Given the description of an element on the screen output the (x, y) to click on. 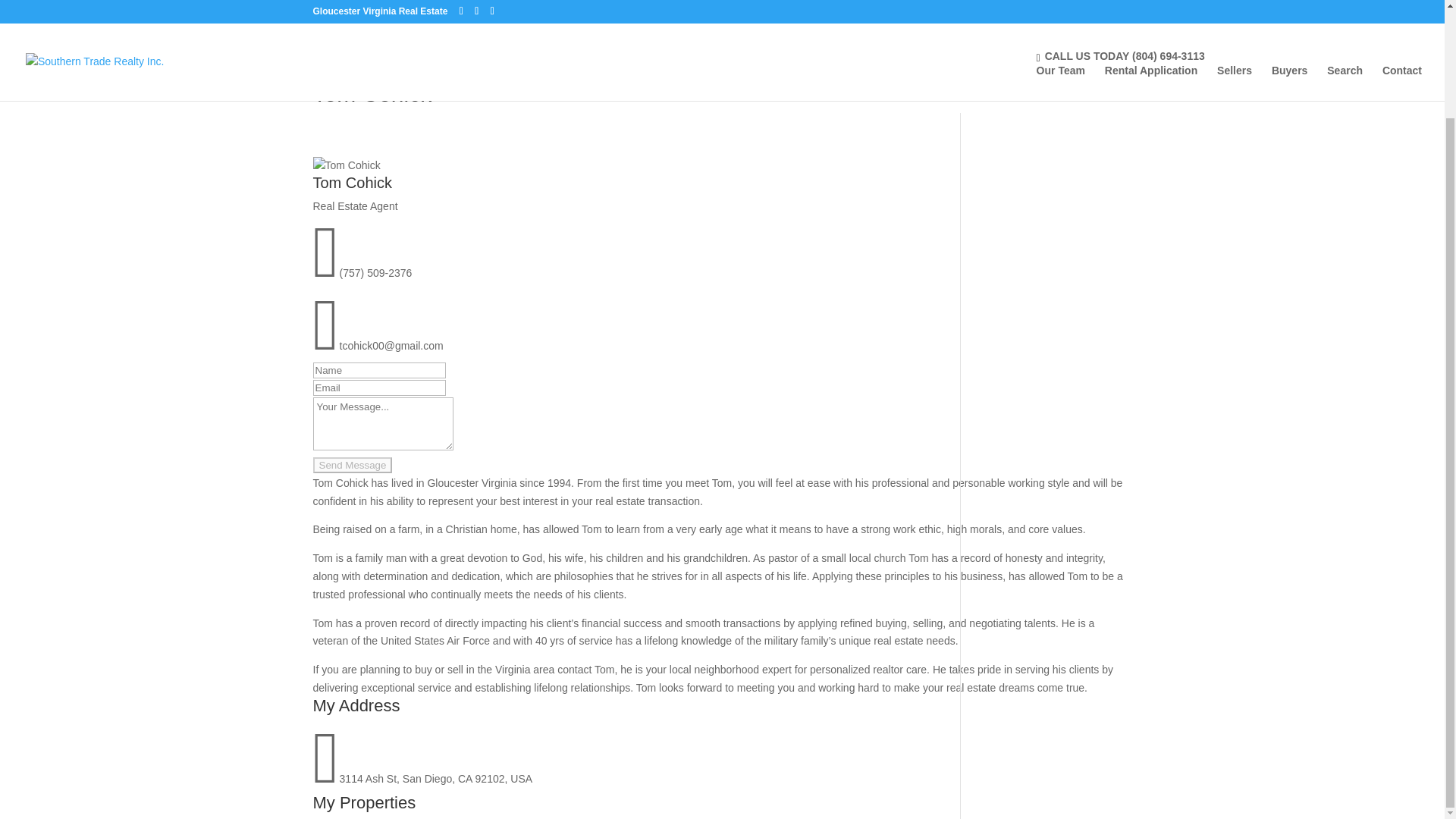
Agents (393, 66)
Send Message (352, 465)
Home (326, 66)
Go to Agents. (393, 66)
Send Message (352, 465)
Go to Southern Trade Realty Inc.. (326, 66)
